Given the description of an element on the screen output the (x, y) to click on. 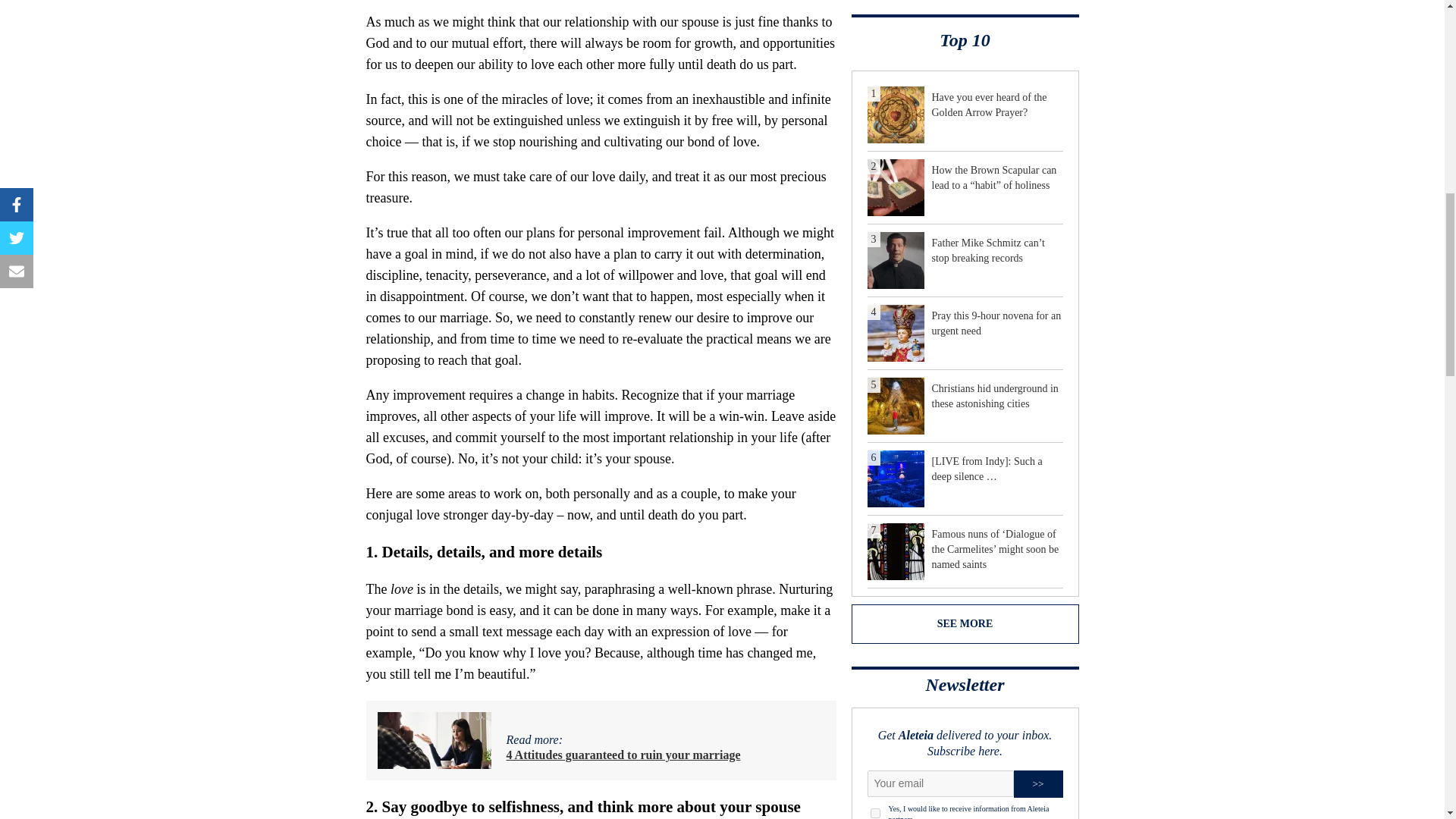
4 Attitudes guaranteed to ruin your marriage (623, 754)
1 (875, 813)
